Given the description of an element on the screen output the (x, y) to click on. 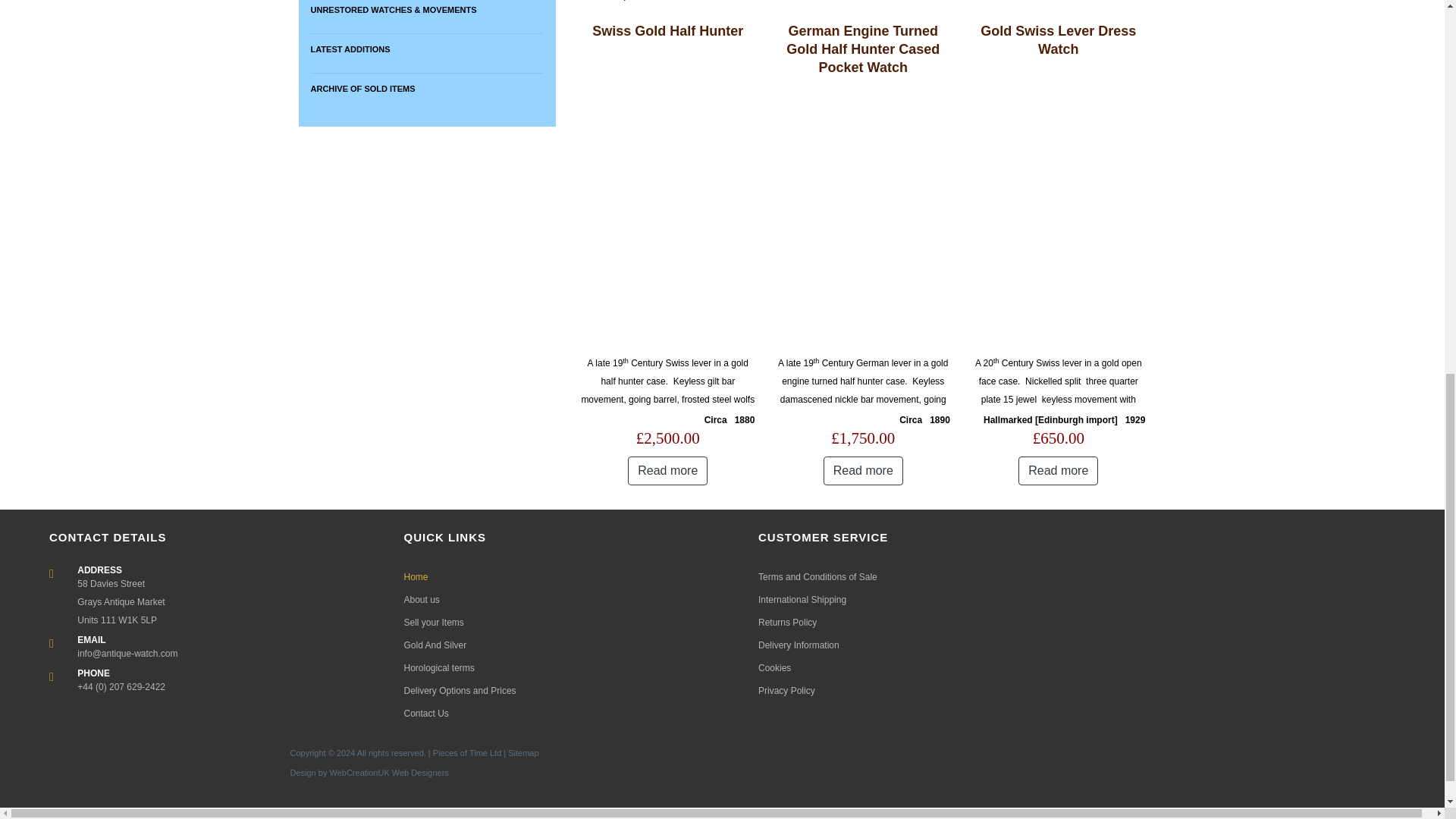
Read more (667, 470)
Read more (863, 470)
Read more (1057, 470)
